Given the description of an element on the screen output the (x, y) to click on. 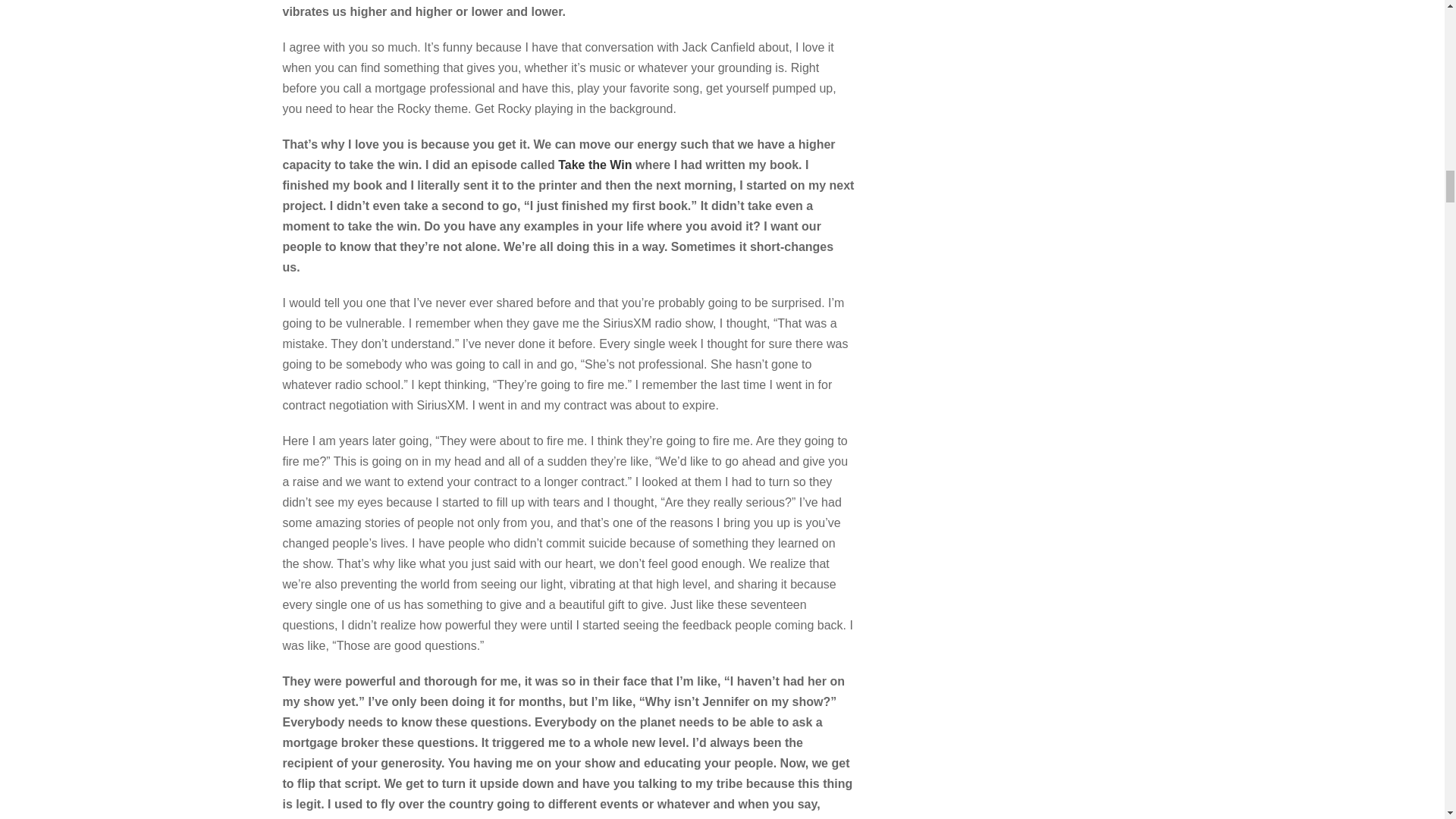
Take the Win (594, 164)
